Given the description of an element on the screen output the (x, y) to click on. 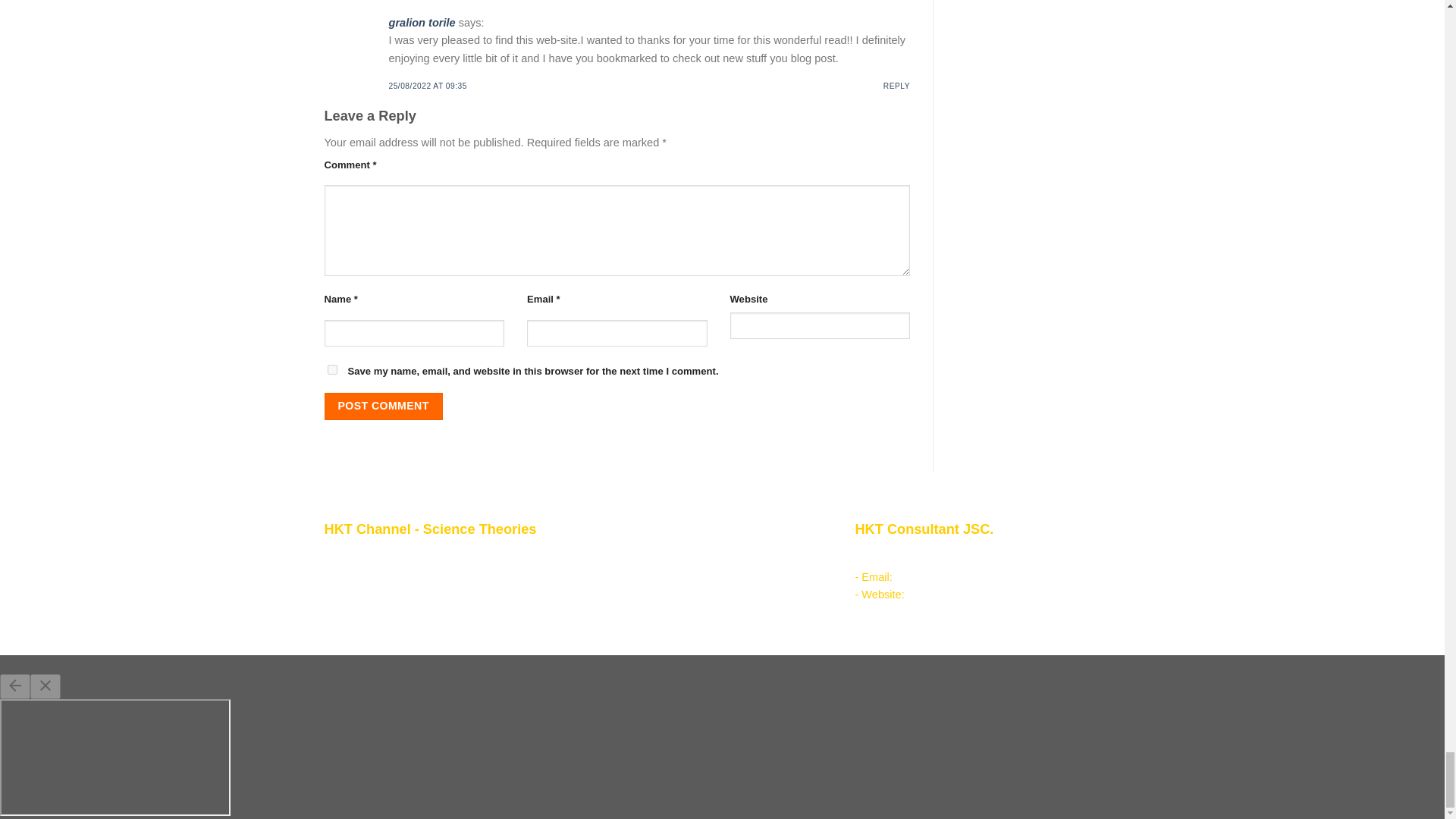
About us (378, 555)
About HKT CHANNEL (389, 573)
yes (332, 369)
Post Comment (383, 406)
